Given the description of an element on the screen output the (x, y) to click on. 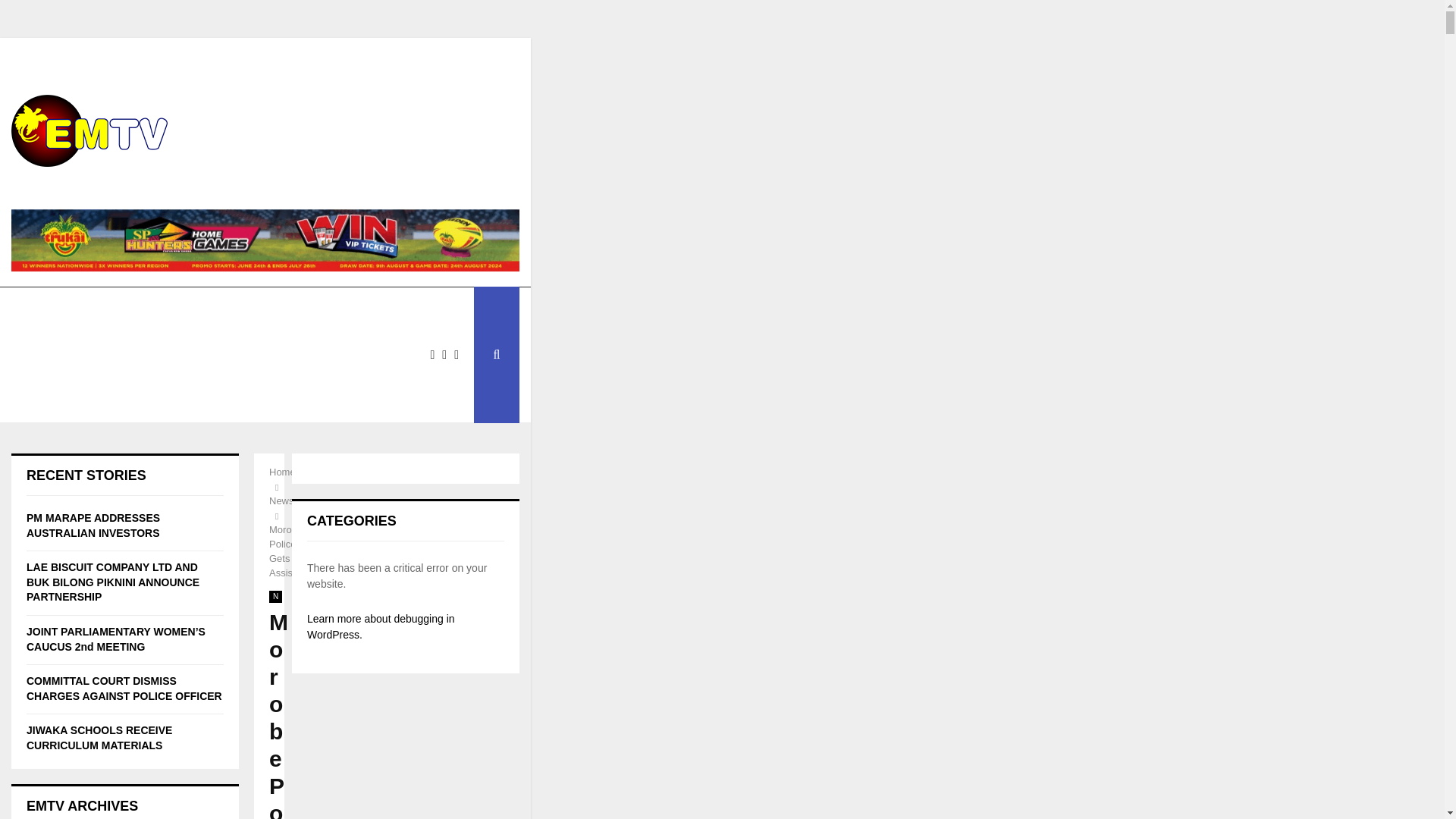
LIFE (113, 354)
WATCH NOW (126, 309)
TV SCHEDULE (225, 309)
SPORT (47, 354)
PROGRAMMES (333, 309)
NEWS (45, 309)
